Given the description of an element on the screen output the (x, y) to click on. 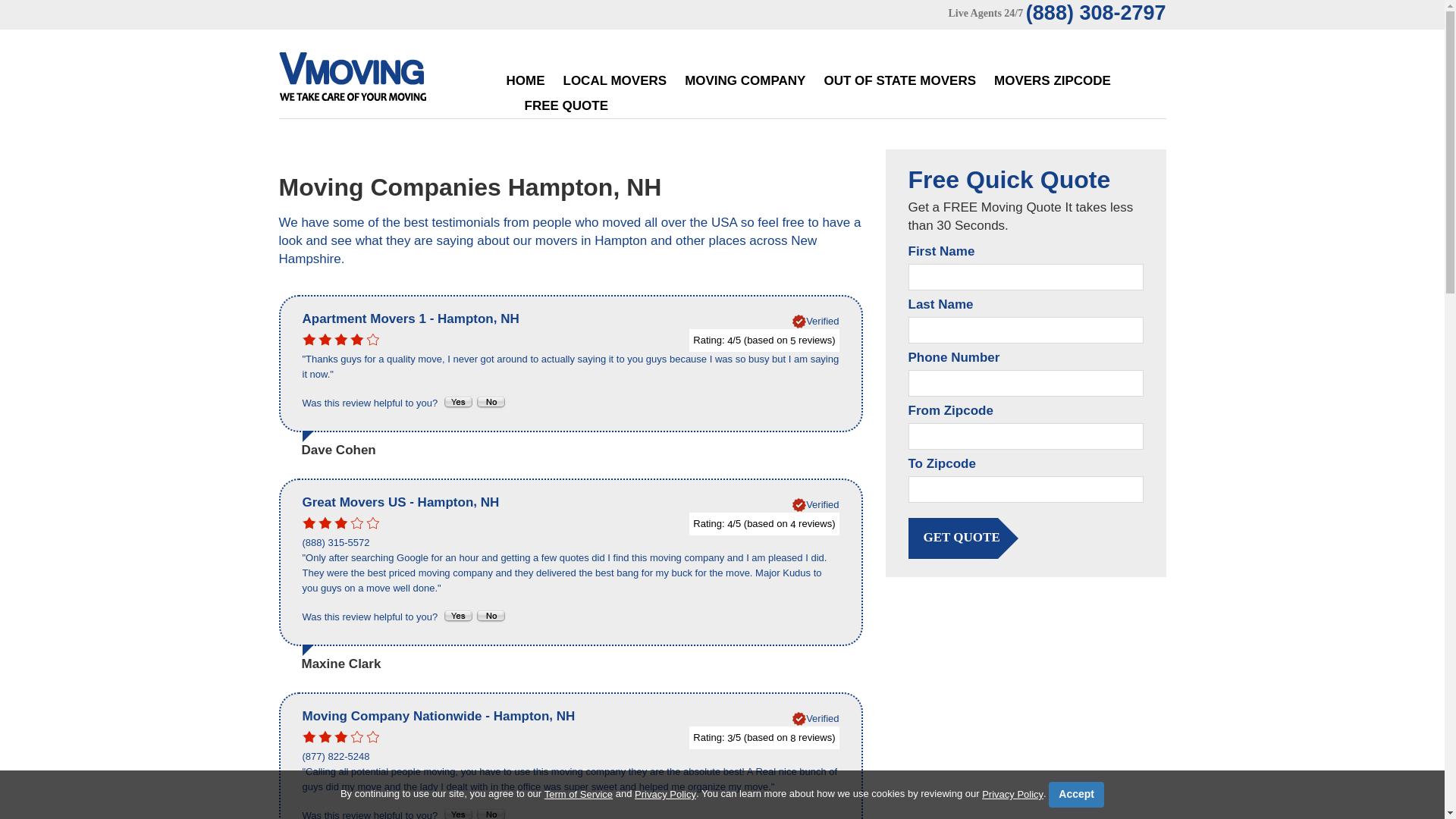
HOME (525, 80)
MOVING COMPANY (744, 80)
FREE QUOTE (566, 105)
MOVERS ZIPCODE (1052, 80)
VMoving (384, 80)
OUT OF STATE MOVERS (899, 80)
LOCAL MOVERS (614, 80)
